Given the description of an element on the screen output the (x, y) to click on. 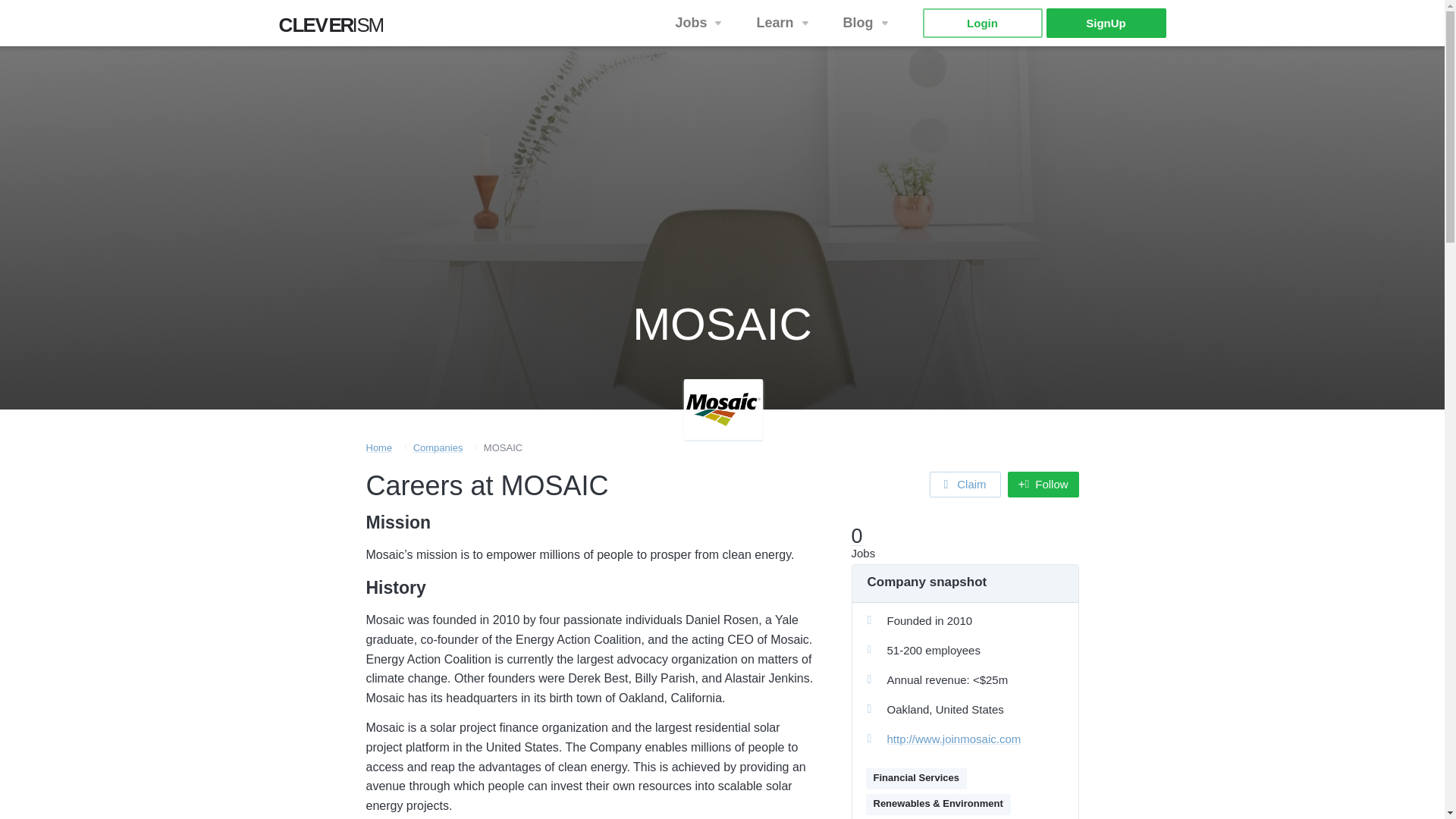
SignUp (1106, 22)
Home (336, 28)
Jobs (378, 447)
Learn (700, 22)
Companies (783, 22)
Login (438, 447)
Financial Services (981, 22)
Claim (916, 778)
Blog (965, 484)
